Given the description of an element on the screen output the (x, y) to click on. 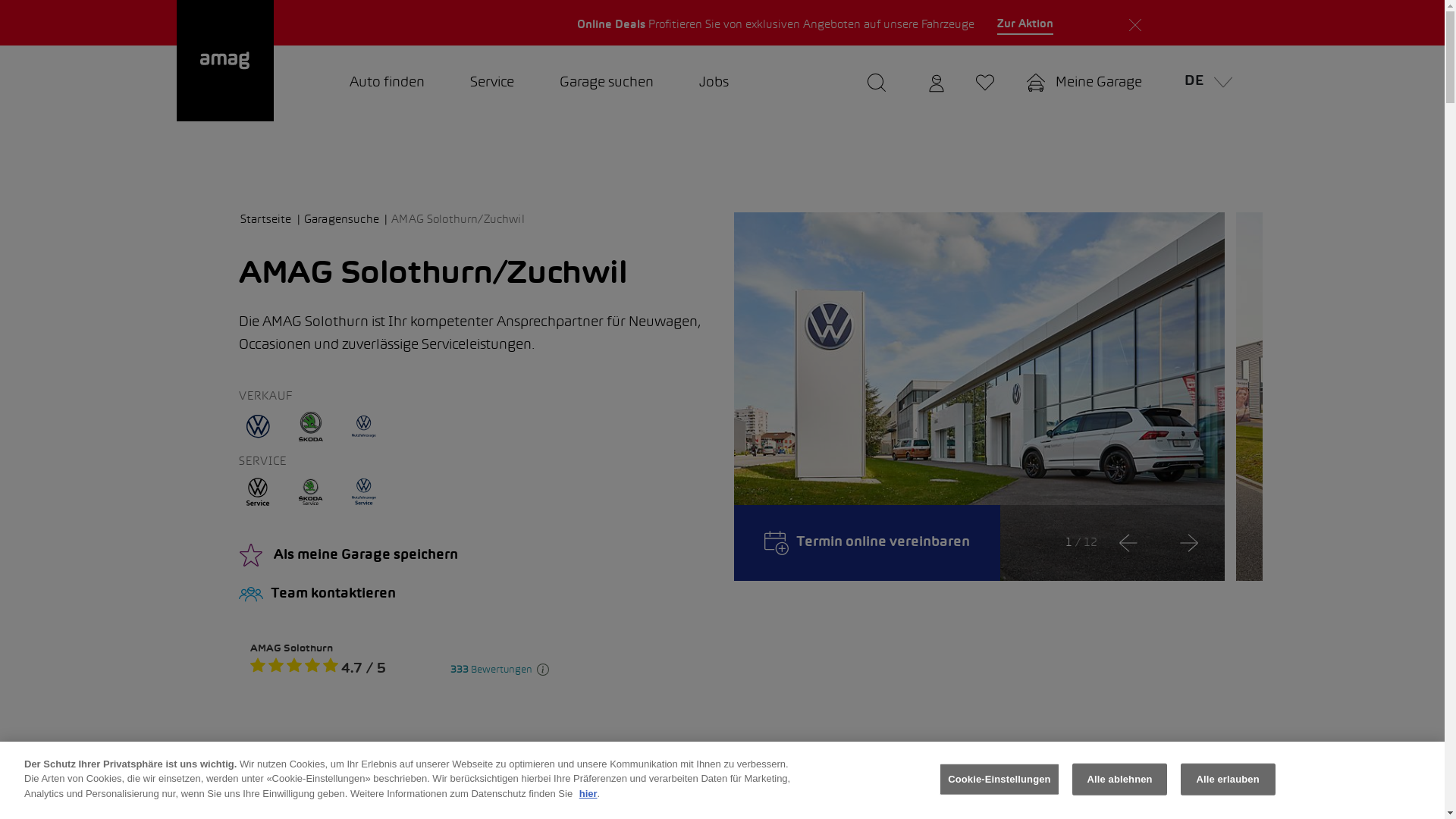
Garage suchen Element type: text (606, 83)
Zur Aktion Element type: text (1025, 24)
Jobs Element type: text (713, 83)
Alle erlauben Element type: text (1227, 779)
hier Element type: text (588, 793)
SCHNELL UND ONLINE Wir kaufen Ihr Auto Element type: text (398, 22)
Meine Garage Element type: text (1083, 83)
Garagensuche Element type: text (345, 219)
DE Element type: text (1203, 83)
Alle ablehnen Element type: text (1119, 779)
Termin online vereinbaren Element type: text (867, 542)
Service Element type: text (491, 83)
Team kontaktieren Element type: text (474, 594)
NR. 1 IN DER SCHWEIZ mit 85 Standorten Element type: text (1053, 22)
Auto finden Element type: text (386, 83)
Startseite Element type: text (270, 219)
Cookie-Einstellungen Element type: text (999, 779)
